Given the description of an element on the screen output the (x, y) to click on. 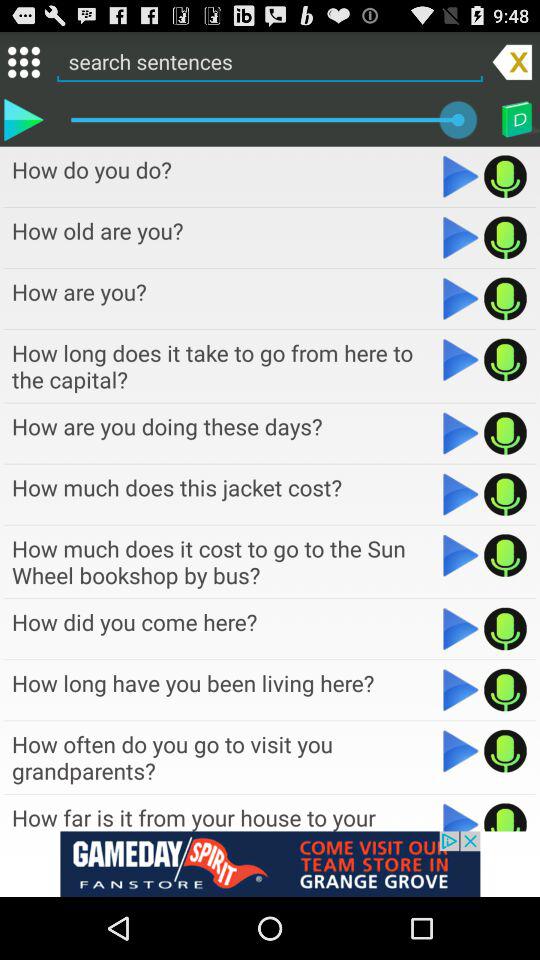
play audio (460, 816)
